Given the description of an element on the screen output the (x, y) to click on. 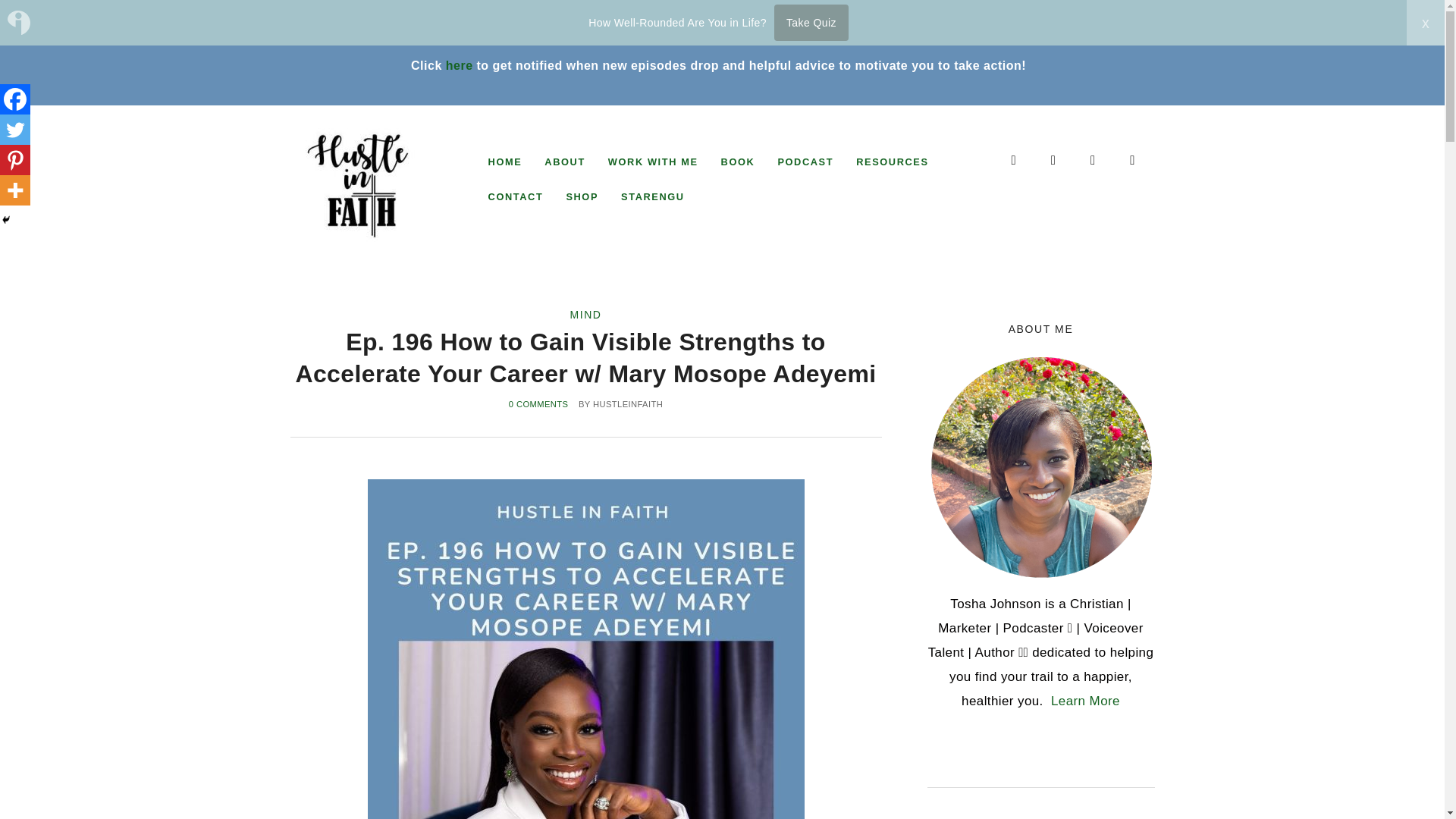
More (15, 190)
Facebook (15, 99)
Take Quiz (811, 22)
STARENGU (652, 196)
here (459, 65)
Hide (5, 219)
0 COMMENTS (538, 403)
PODCAST (804, 161)
RESOURCES (891, 161)
HOME (505, 161)
CONTACT (515, 196)
Pinterest (15, 159)
ABOUT (564, 161)
BOOK (738, 161)
SHOP (582, 196)
